Given the description of an element on the screen output the (x, y) to click on. 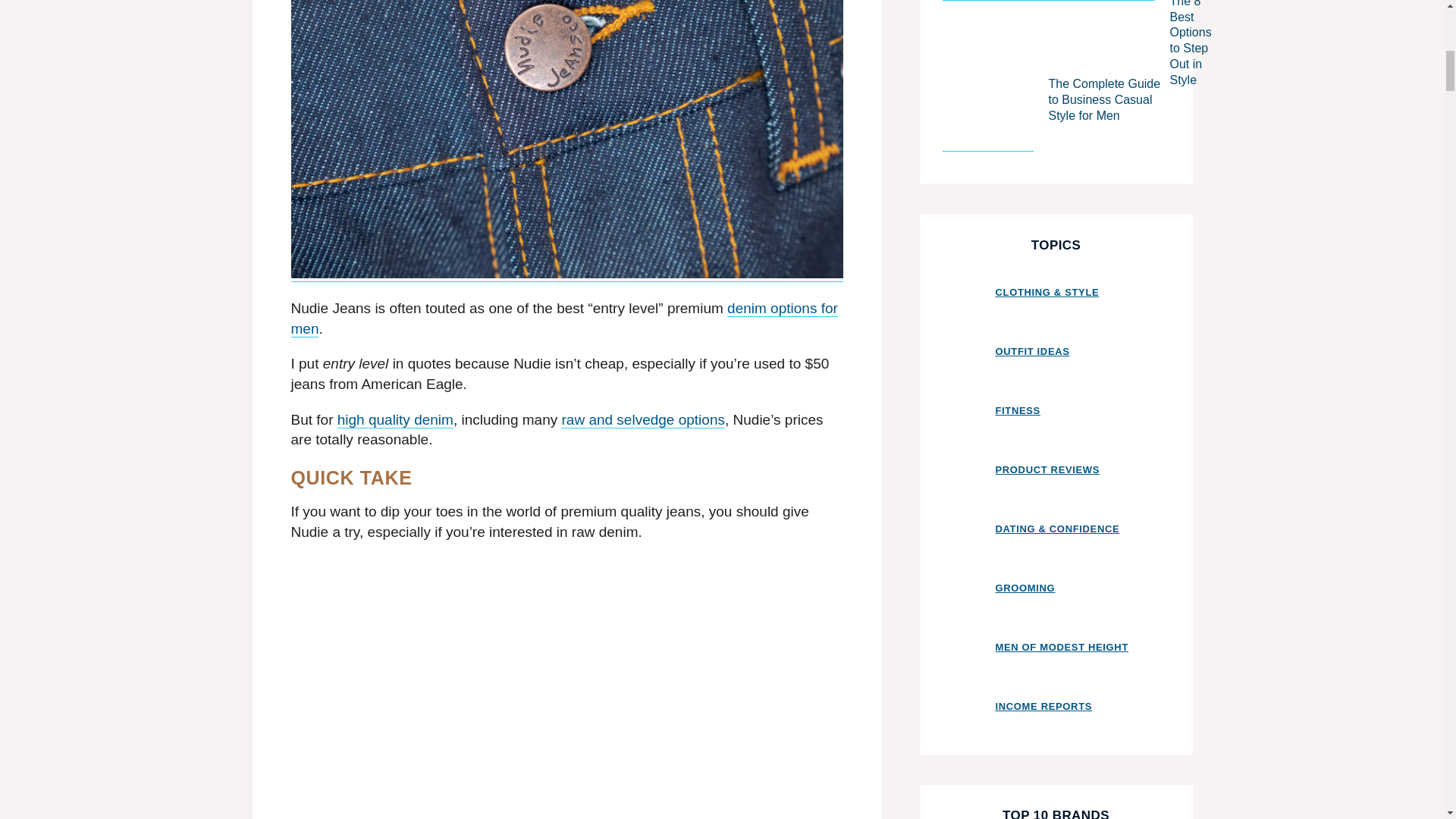
Nudie Jeans fit guide (567, 786)
raw and selvedge options (641, 419)
denim options for men (564, 318)
high quality denim (394, 419)
